Given the description of an element on the screen output the (x, y) to click on. 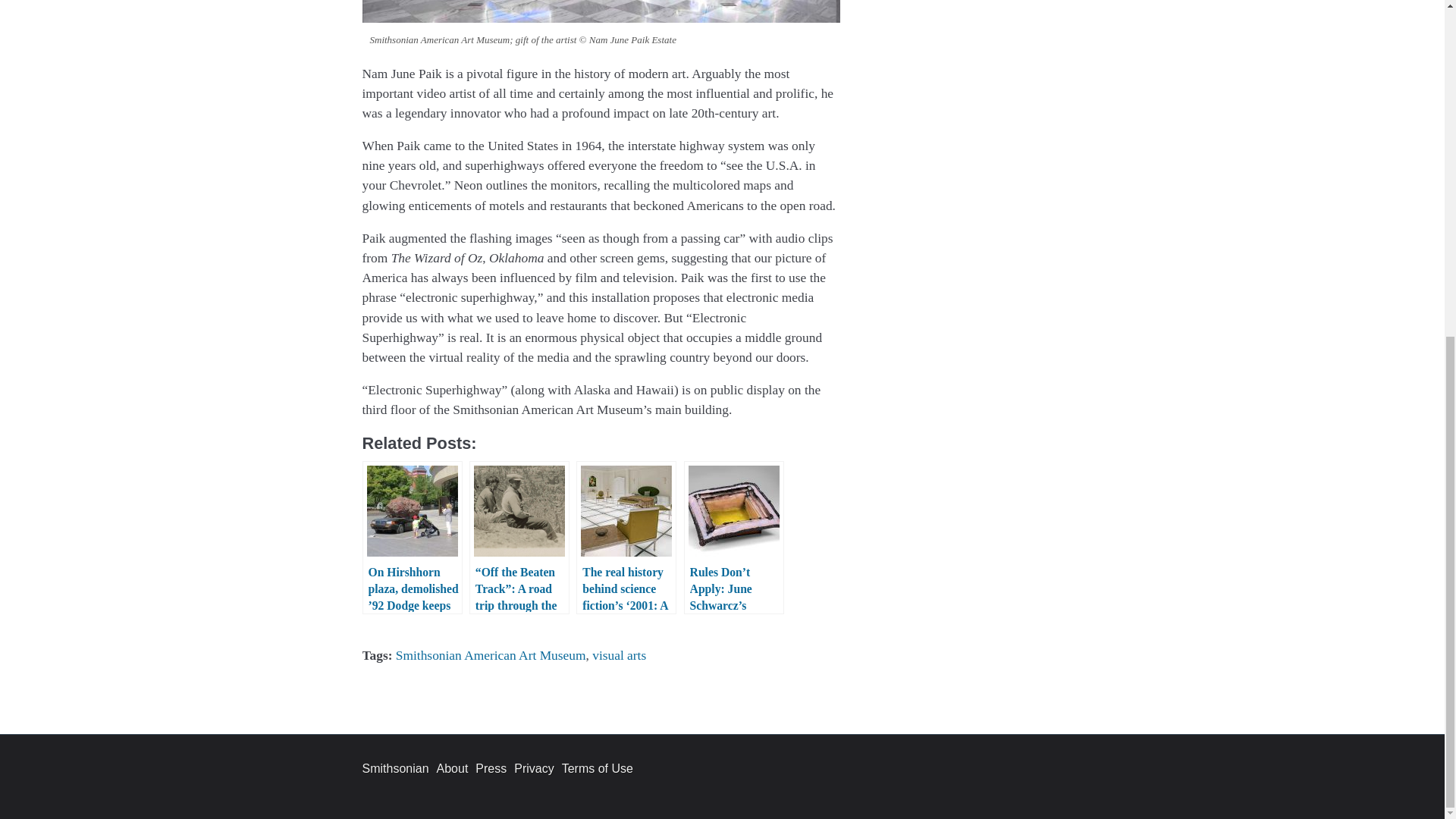
Smithsonian American Art Museum (491, 654)
Smithsonian (395, 768)
About (452, 768)
Privacy (533, 768)
Press (491, 768)
Terms of Use (597, 768)
visual arts (619, 654)
